Given the description of an element on the screen output the (x, y) to click on. 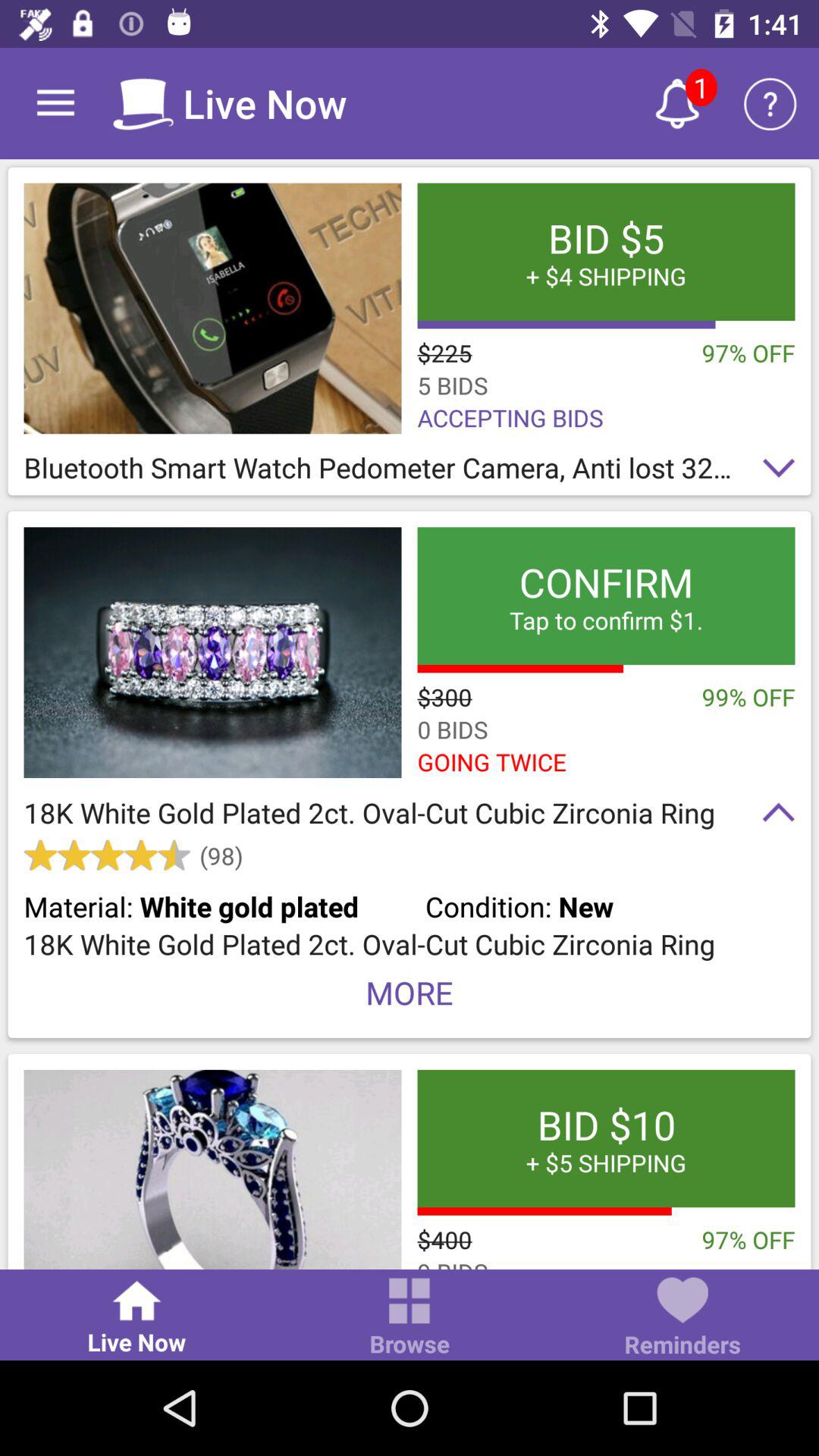
choose the item to the right of the live now icon (409, 1318)
